Given the description of an element on the screen output the (x, y) to click on. 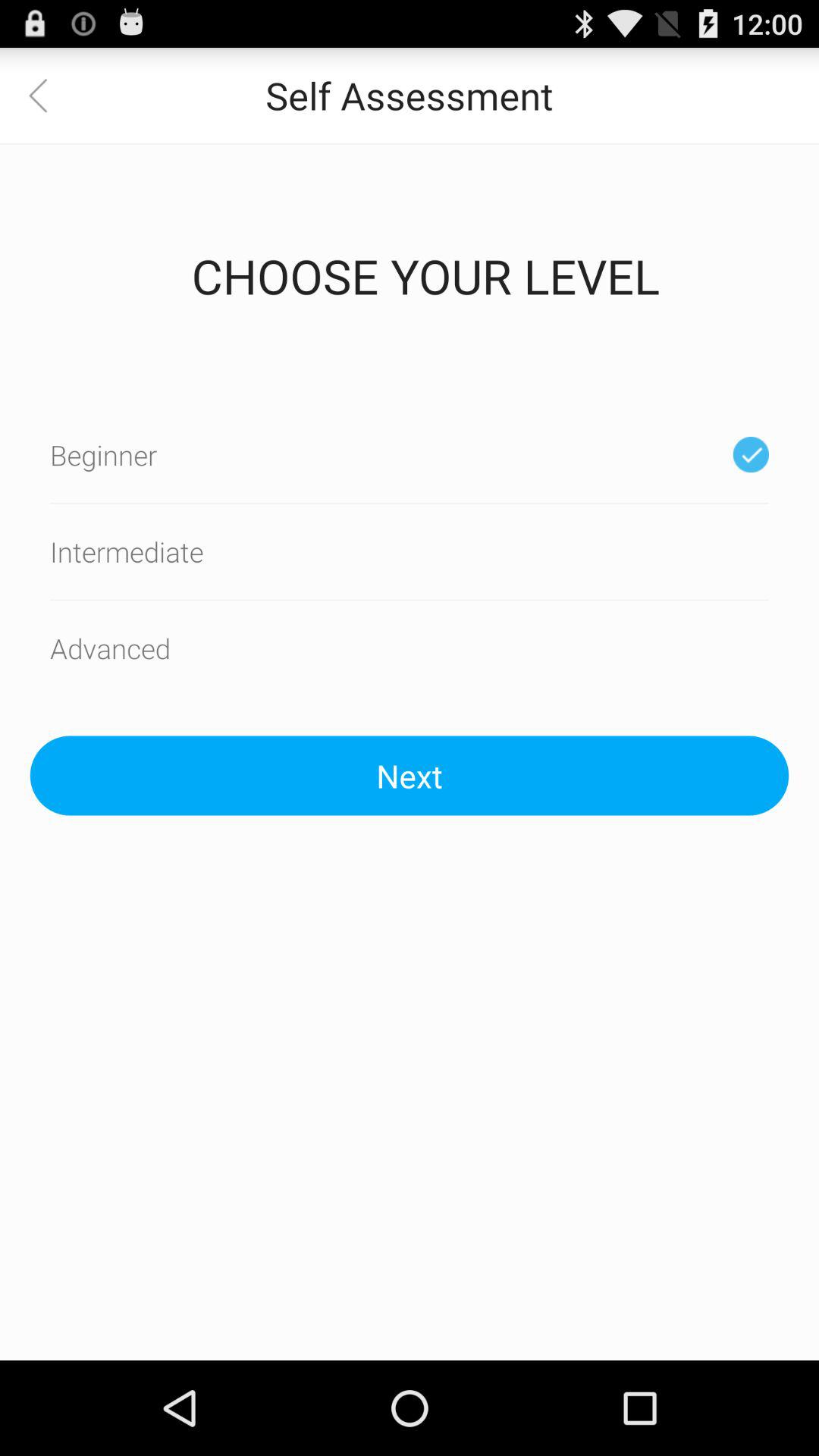
swipe until the next (409, 775)
